Given the description of an element on the screen output the (x, y) to click on. 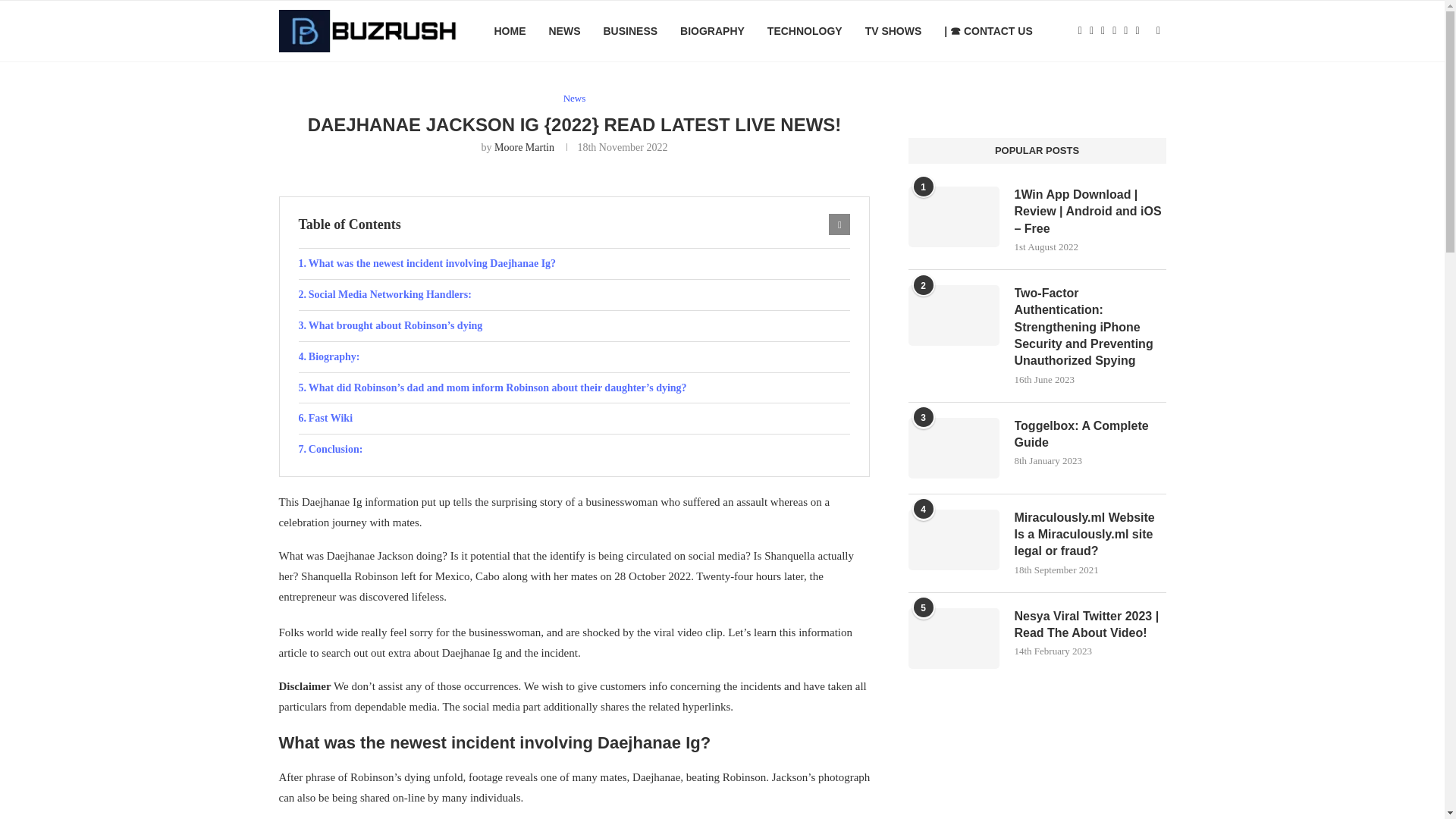
TV SHOWS (892, 30)
Conclusion: (574, 449)
Conclusion: (574, 449)
Moore Martin (524, 147)
TECHNOLOGY (805, 30)
Fast Wiki (574, 418)
Social Media Networking Handlers: (574, 295)
What was the newest incident involving Daejhanae Ig? (574, 263)
What was the newest incident involving Daejhanae Ig? (574, 263)
Biography: (574, 357)
Fast Wiki (574, 418)
News (574, 98)
Social Media Networking Handlers: (574, 295)
BUSINESS (630, 30)
Biography: (574, 357)
